Given the description of an element on the screen output the (x, y) to click on. 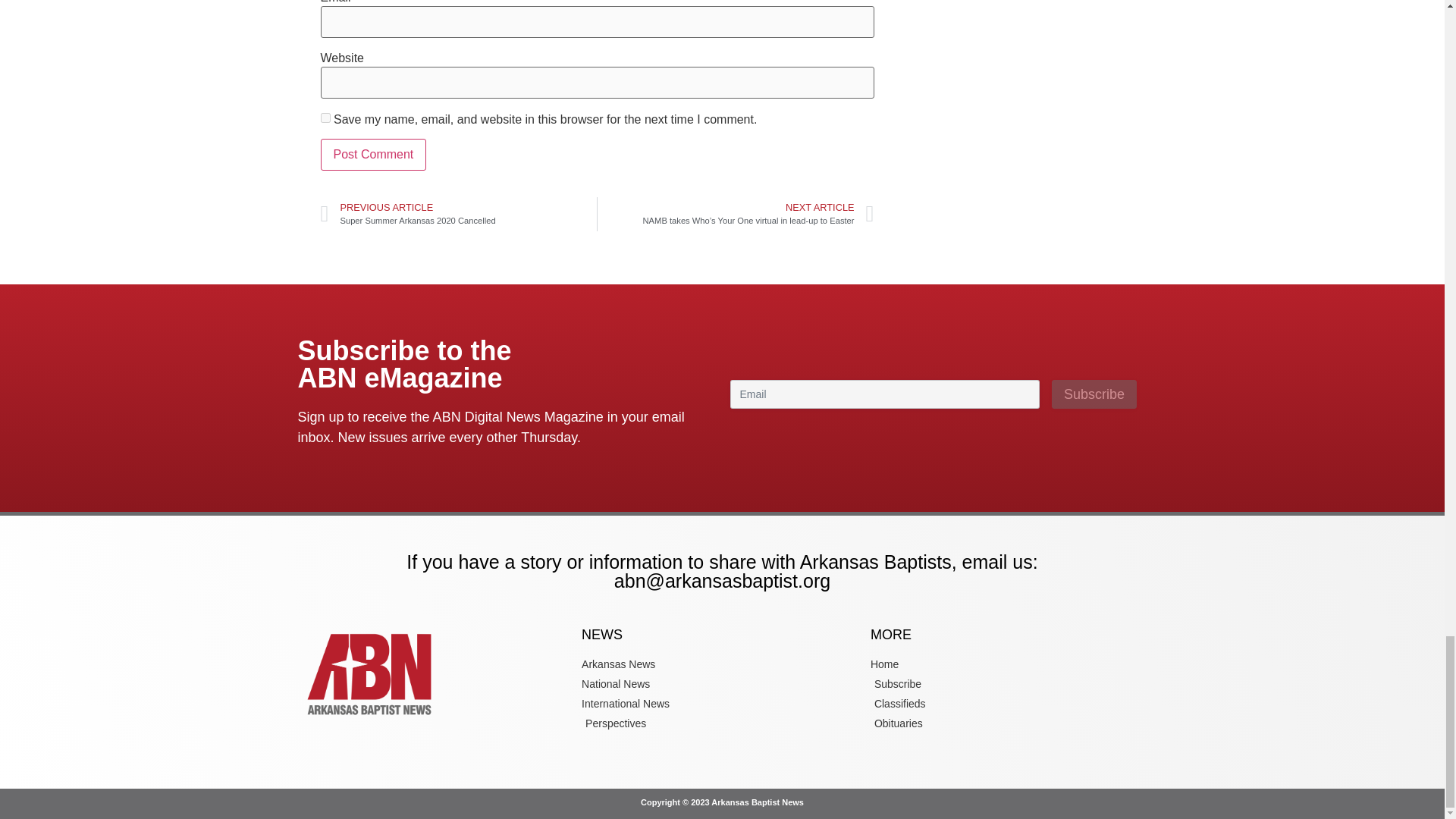
Subscribe (1094, 394)
Post Comment (373, 154)
yes (325, 117)
